Given the description of an element on the screen output the (x, y) to click on. 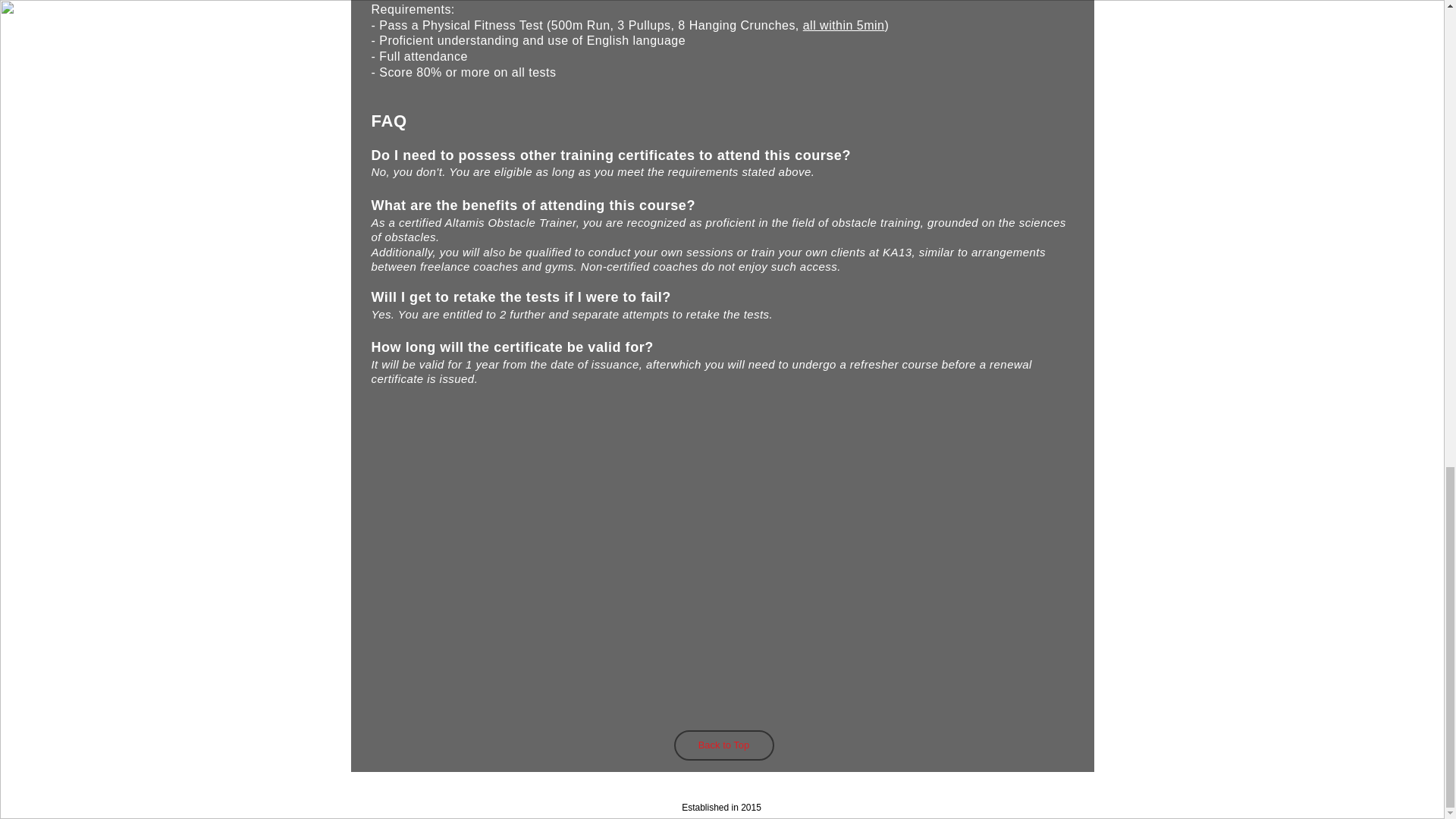
Back to Top (722, 745)
